Given the description of an element on the screen output the (x, y) to click on. 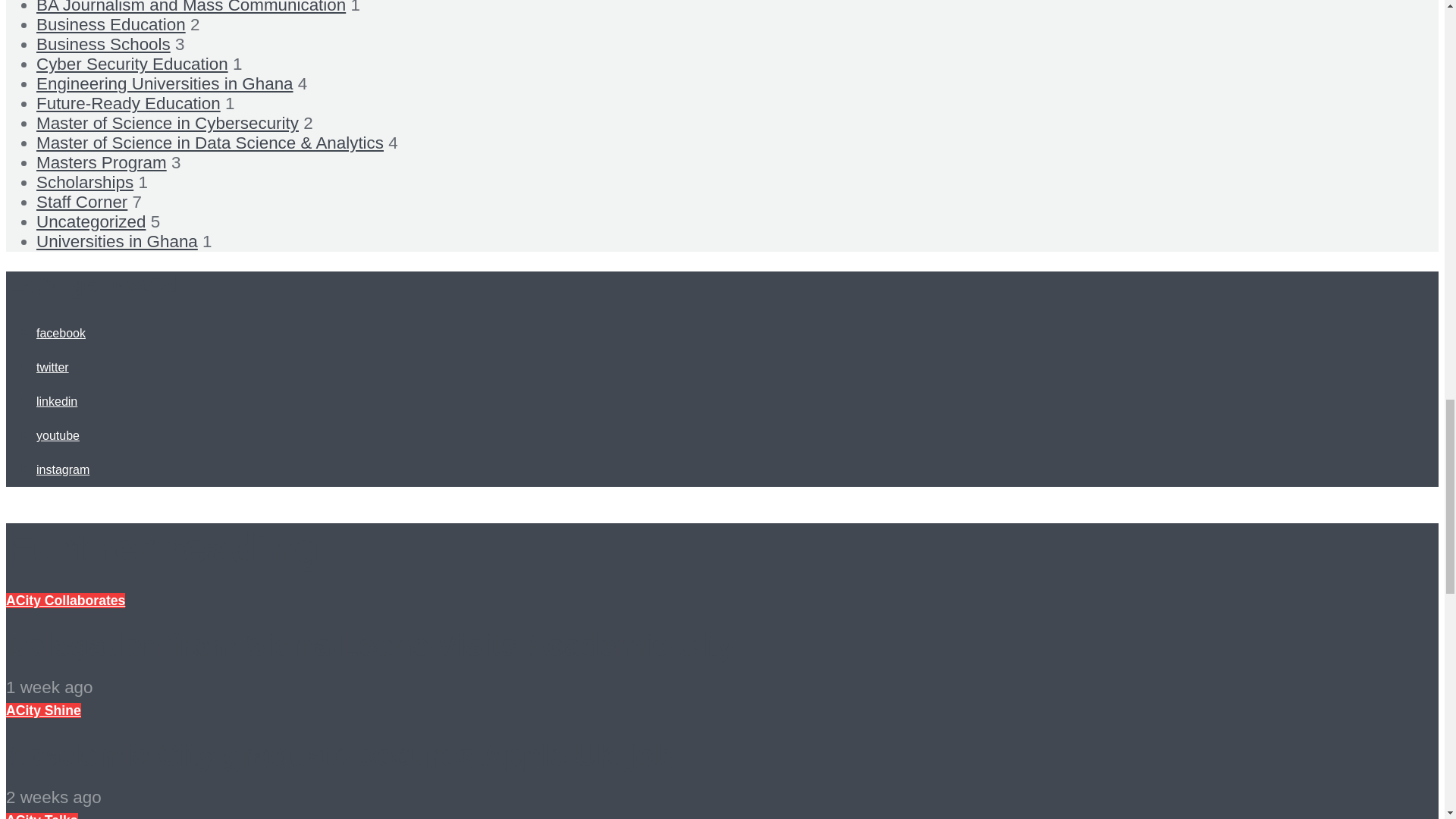
YouTube (58, 435)
Linkedin (56, 400)
Facebook (60, 332)
Instagram (62, 469)
